Given the description of an element on the screen output the (x, y) to click on. 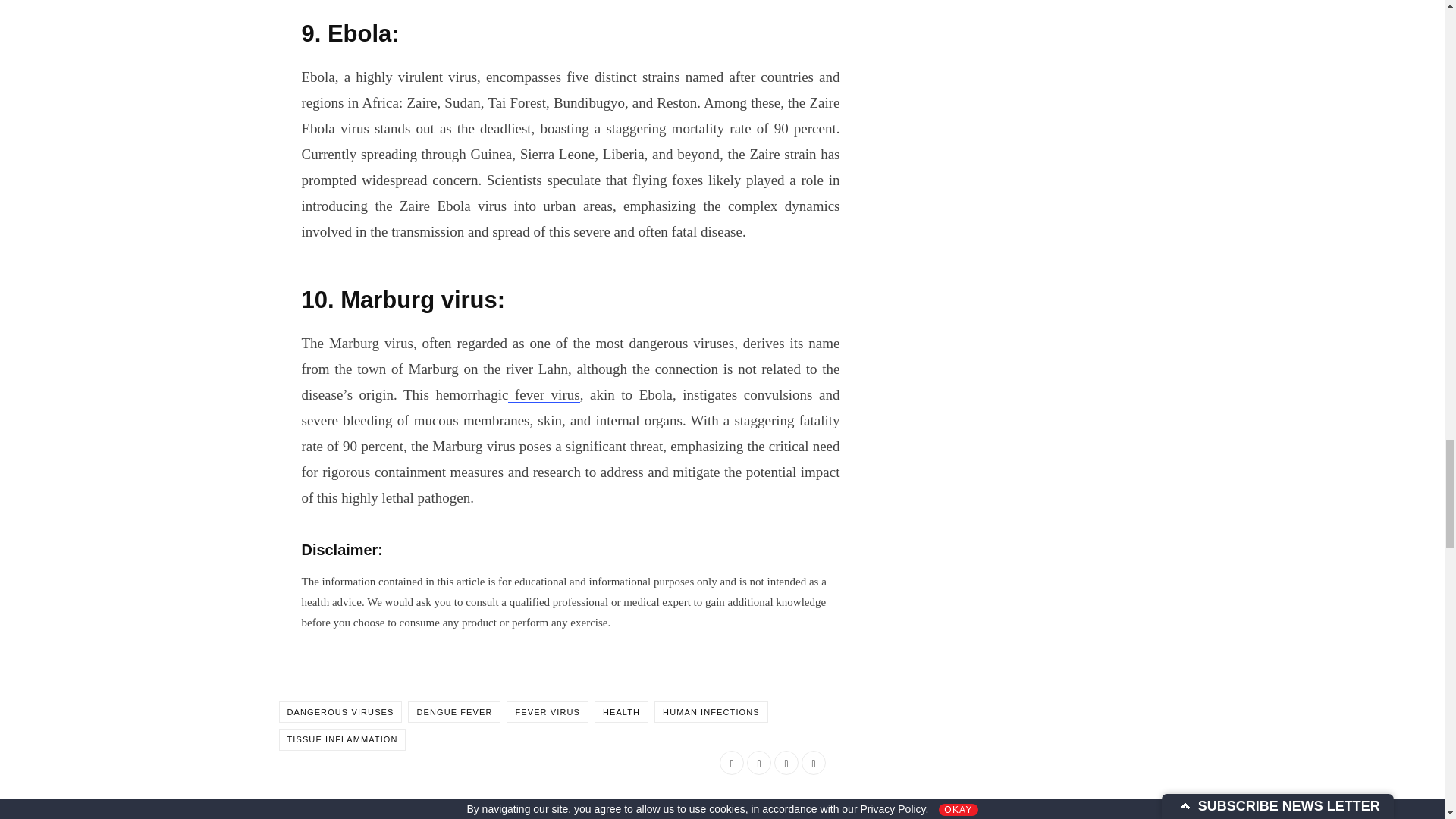
DENGUE FEVER (453, 712)
fever virus (543, 394)
Pinterest (813, 762)
HUMAN INFECTIONS (710, 712)
TISSUE INFLAMMATION (342, 739)
Share on Twitter (758, 762)
LinkedIn (785, 762)
HEALTH (620, 712)
DANGEROUS VIRUSES (341, 712)
FEVER VIRUS (547, 712)
